Given the description of an element on the screen output the (x, y) to click on. 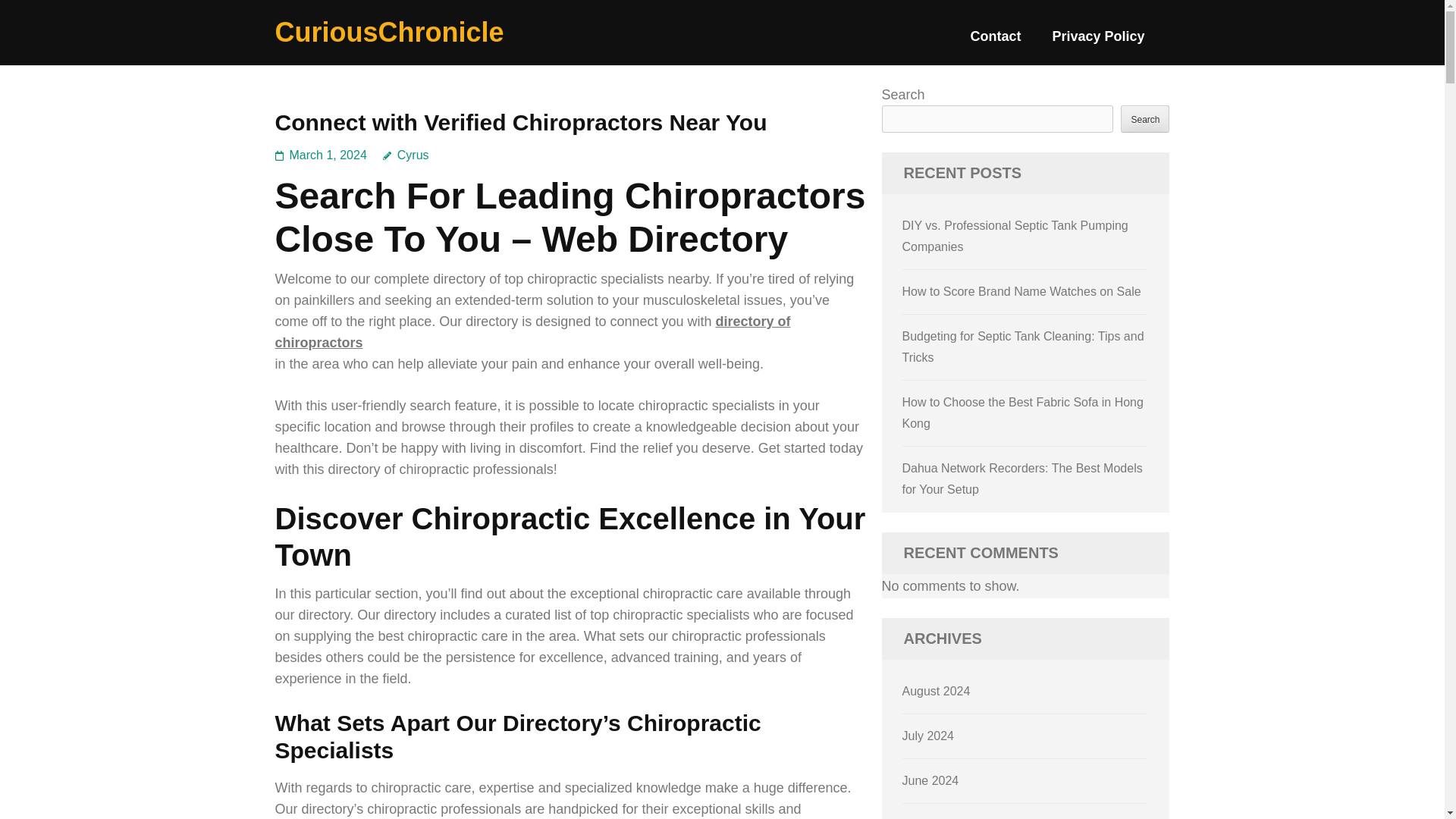
How to Score Brand Name Watches on Sale (1021, 291)
Budgeting for Septic Tank Cleaning: Tips and Tricks (1023, 346)
How to Choose the Best Fabric Sofa in Hong Kong (1022, 412)
Privacy Policy (1097, 42)
DIY vs. Professional Septic Tank Pumping Companies (1015, 236)
Contact (994, 42)
directory of chiropractors (532, 331)
CuriousChronicle (389, 31)
Cyrus (405, 154)
June 2024 (930, 780)
